Given the description of an element on the screen output the (x, y) to click on. 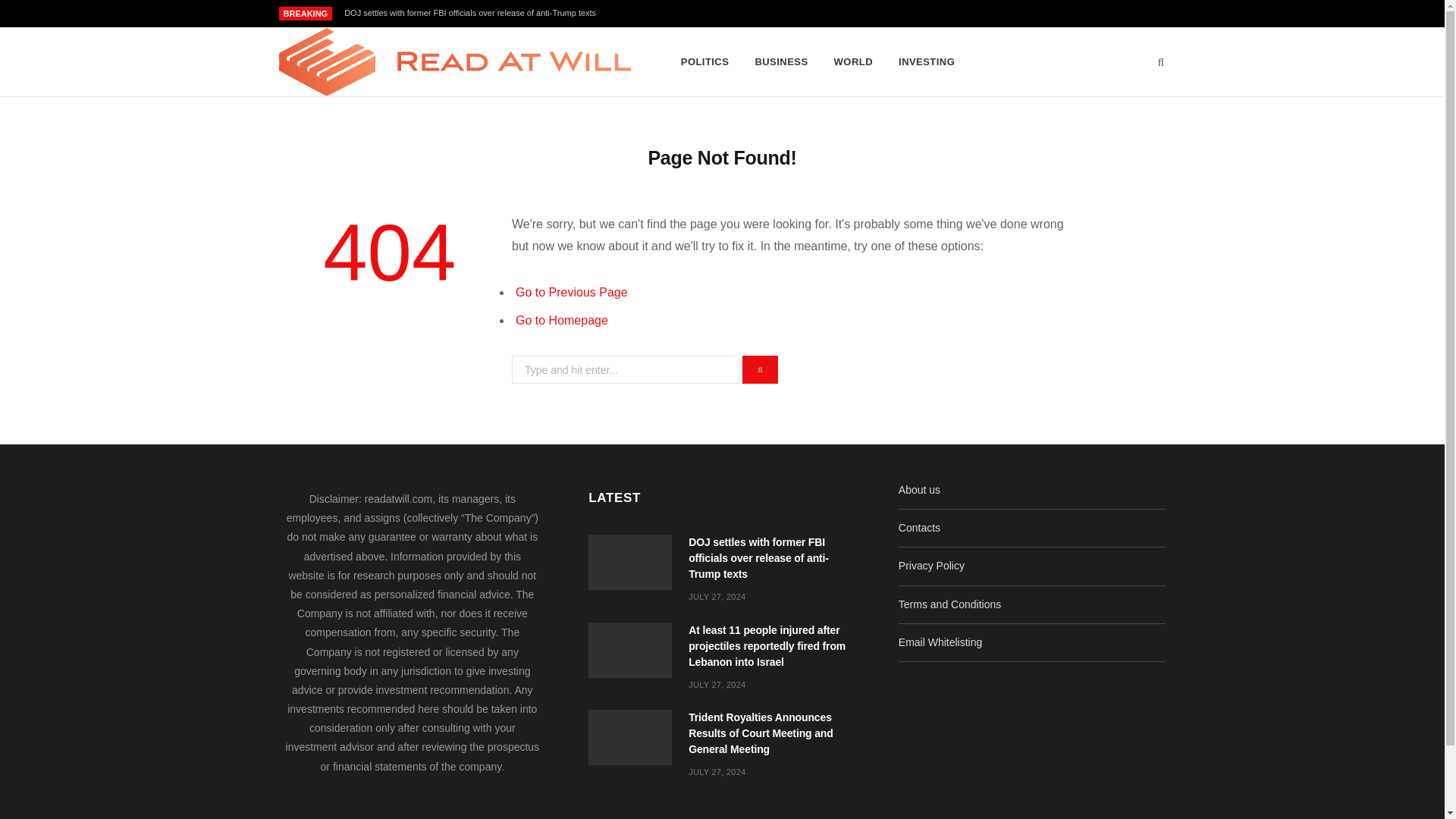
JULY 27, 2024 (716, 596)
About us (919, 490)
JULY 27, 2024 (716, 771)
Search for: (625, 369)
BUSINESS (780, 61)
WORLD (852, 61)
Contacts (919, 527)
POLITICS (705, 61)
Go to Previous Page (571, 291)
